Given the description of an element on the screen output the (x, y) to click on. 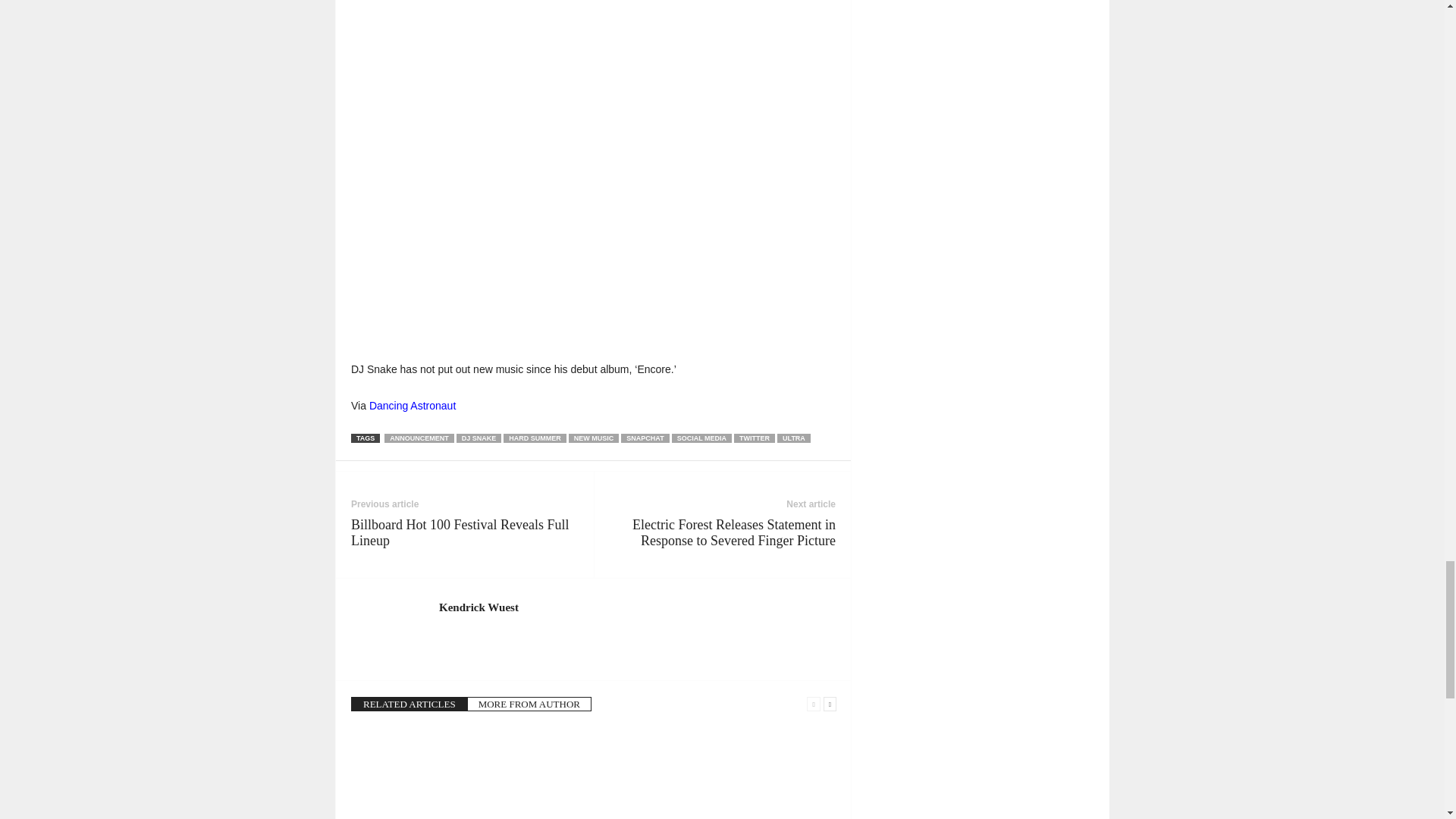
SNAPCHAT (644, 438)
Dancing Astronaut (412, 405)
DJ SNAKE (479, 438)
ANNOUNCEMENT (419, 438)
HARD SUMMER (534, 438)
10 Dog Grooming Tips Every Pet Owner Should Know (426, 773)
NEW MUSIC (594, 438)
